Given the description of an element on the screen output the (x, y) to click on. 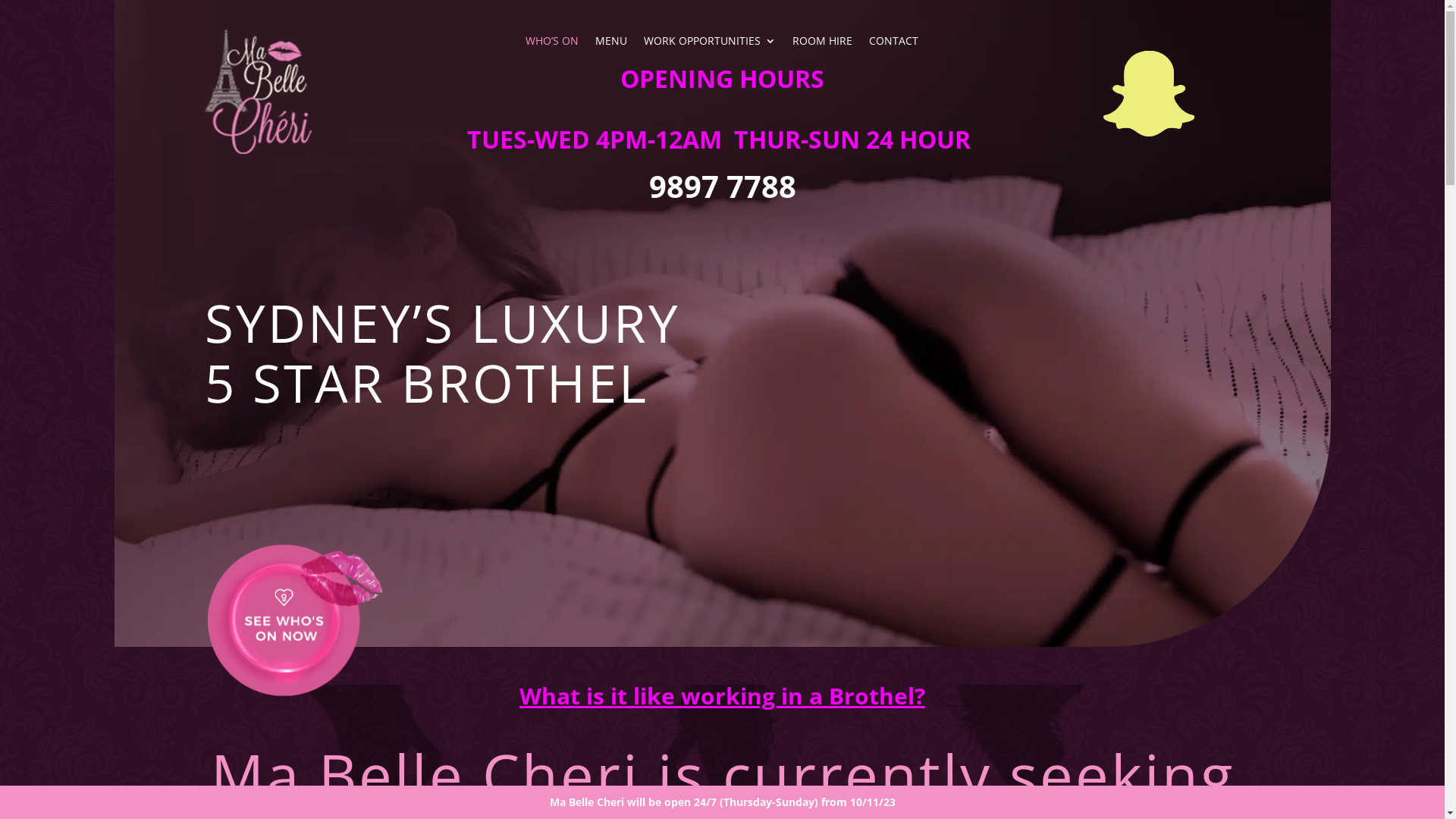
ROOM HIRE Element type: text (822, 43)
logo-header Element type: hover (257, 91)
WORK OPPORTUNITIES Element type: text (709, 43)
CONTACT Element type: text (893, 43)
Follow on Facebook Element type: hover (1148, 94)
MENU Element type: text (611, 43)
whos-on-button Element type: hover (294, 620)
